Given the description of an element on the screen output the (x, y) to click on. 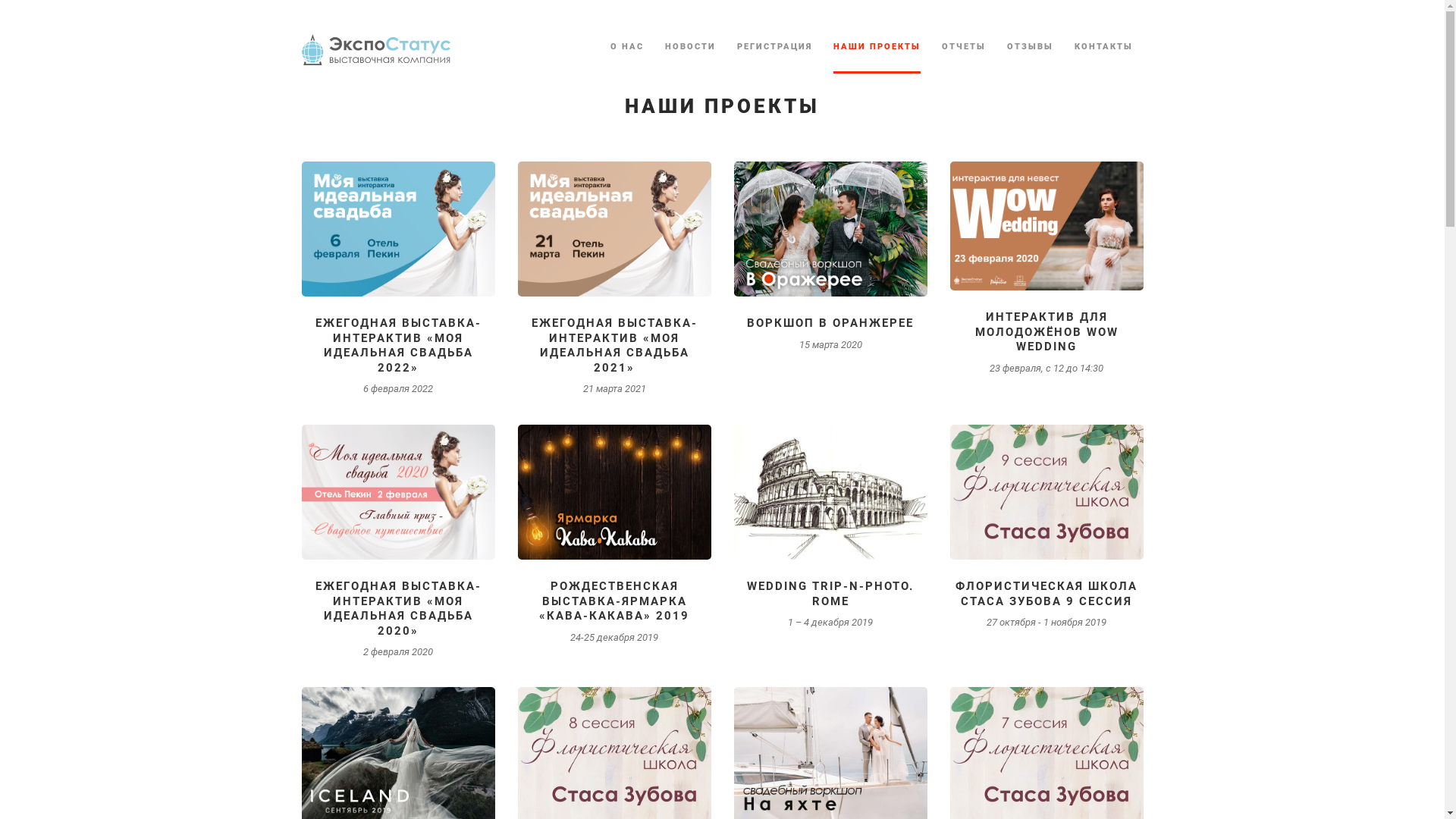
WEDDING TRIP-N-PHOTO. ROME Element type: text (829, 593)
